Given the description of an element on the screen output the (x, y) to click on. 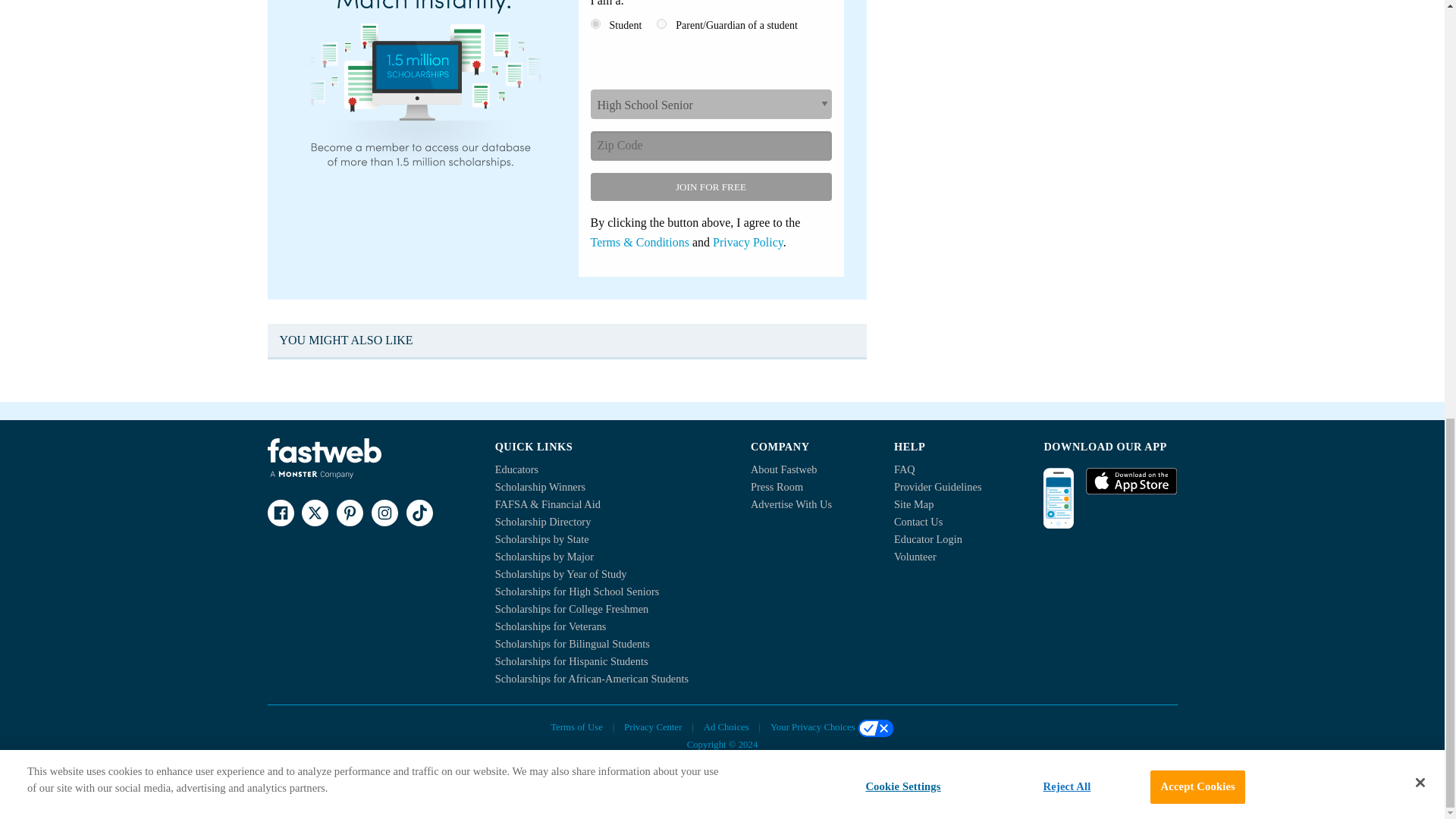
Fastweb on IOS (1131, 481)
Fastweb on Instagram (384, 512)
2 (661, 23)
Join for free (710, 186)
Fastweb on Facebook (280, 512)
1 (594, 23)
Fastweb on TikTok (419, 512)
Fastweb on Pinterest (349, 512)
